Given the description of an element on the screen output the (x, y) to click on. 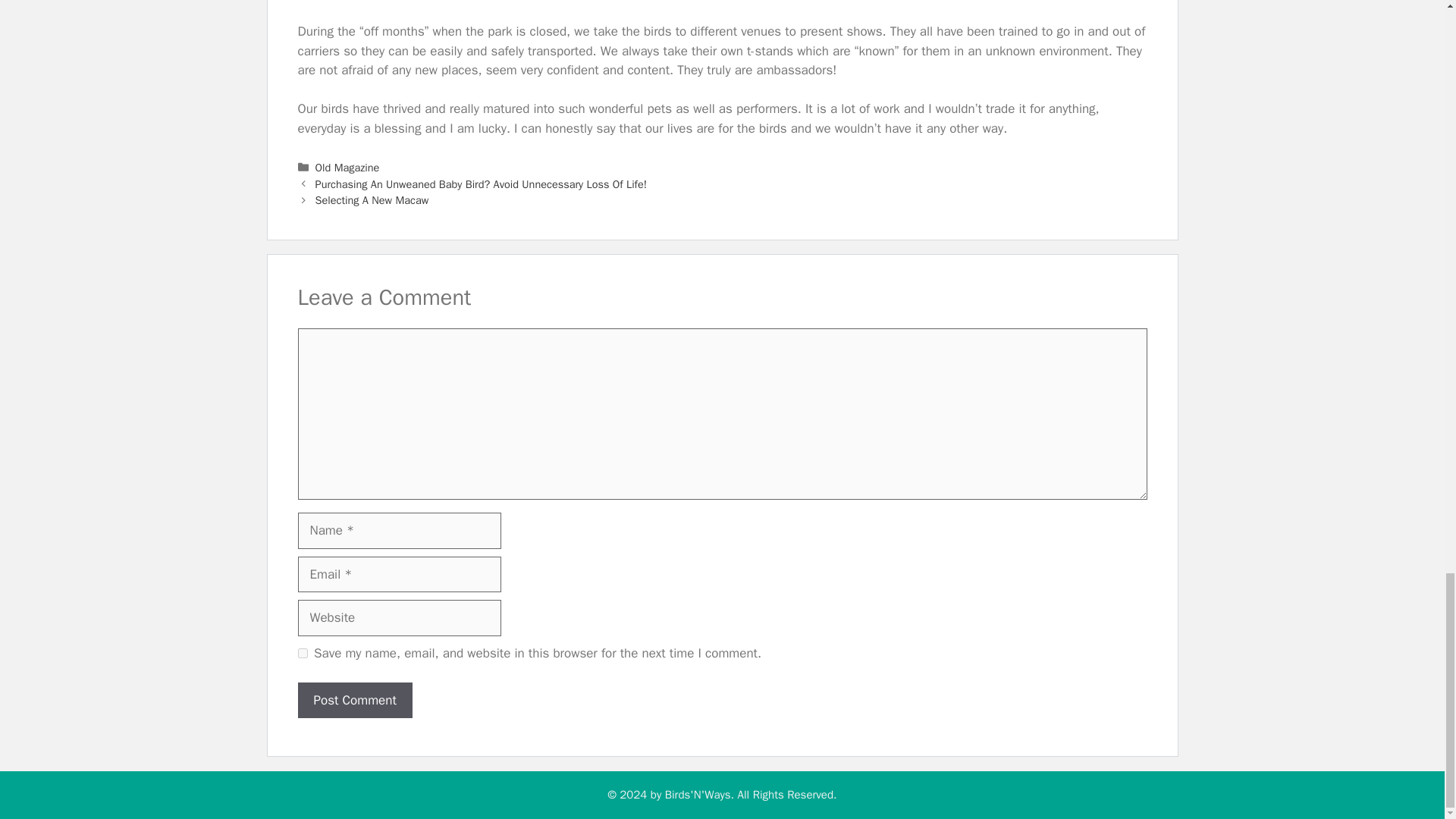
yes (302, 653)
Selecting A New Macaw (372, 200)
Old Magazine (347, 167)
Post Comment (354, 700)
Post Comment (354, 700)
